Given the description of an element on the screen output the (x, y) to click on. 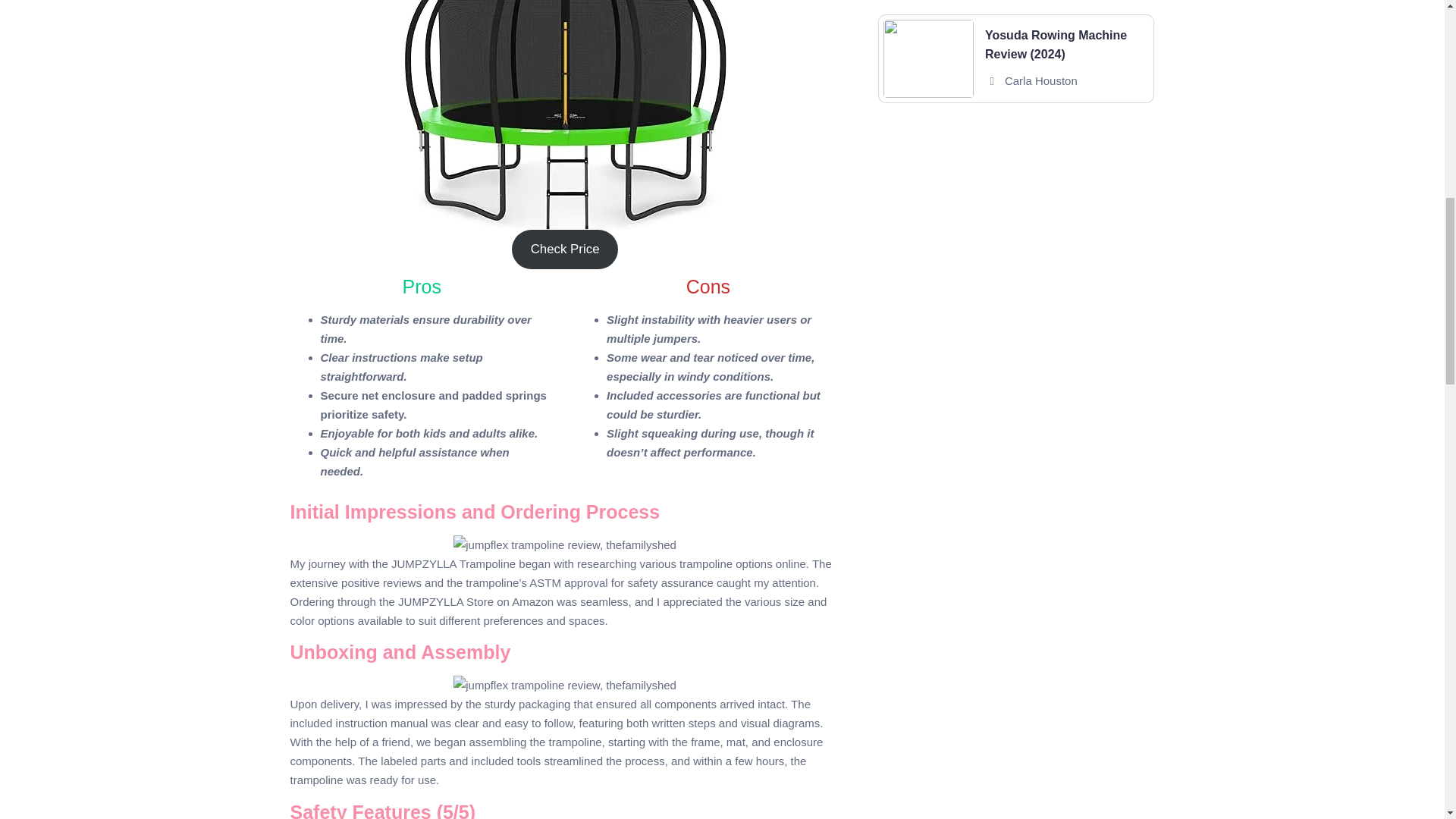
Carla Houston (1040, 80)
Check Price (564, 249)
Posts by Carla Houston (1040, 80)
